Given the description of an element on the screen output the (x, y) to click on. 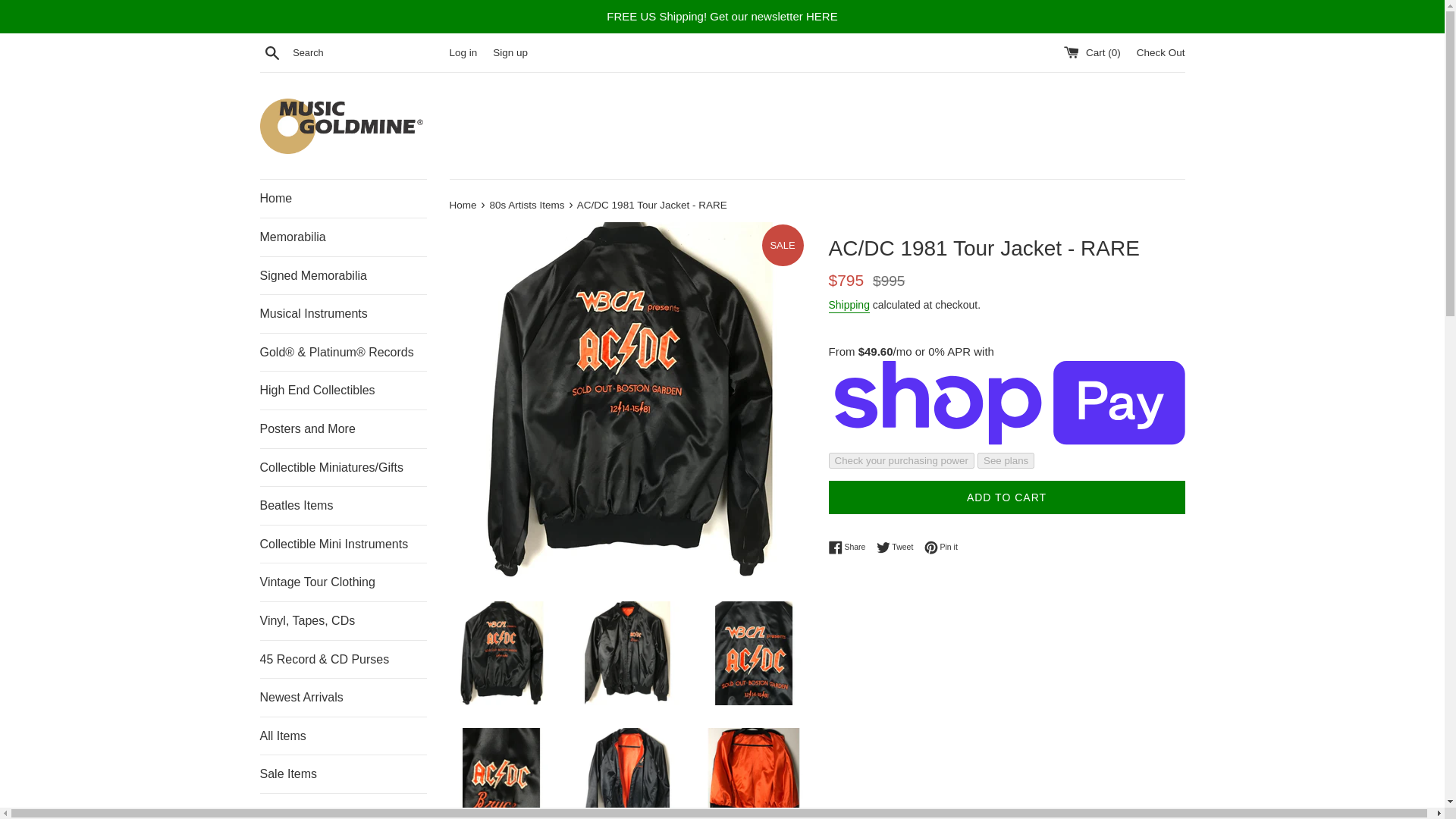
Home (342, 198)
Vintage Tour Clothing (342, 582)
Share on Facebook (850, 547)
Newest Arrivals (342, 697)
Musical Instruments (342, 313)
Check Out (1161, 52)
Posters and More (342, 428)
FREE US Shipping! Get our newsletter HERE (725, 16)
Signed Memorabilia (342, 275)
Log in (462, 52)
Beatles Items (342, 505)
Sign up (510, 52)
Pin on Pinterest (941, 547)
Collectible Mini Instruments (342, 544)
Sale Items (342, 774)
